Given the description of an element on the screen output the (x, y) to click on. 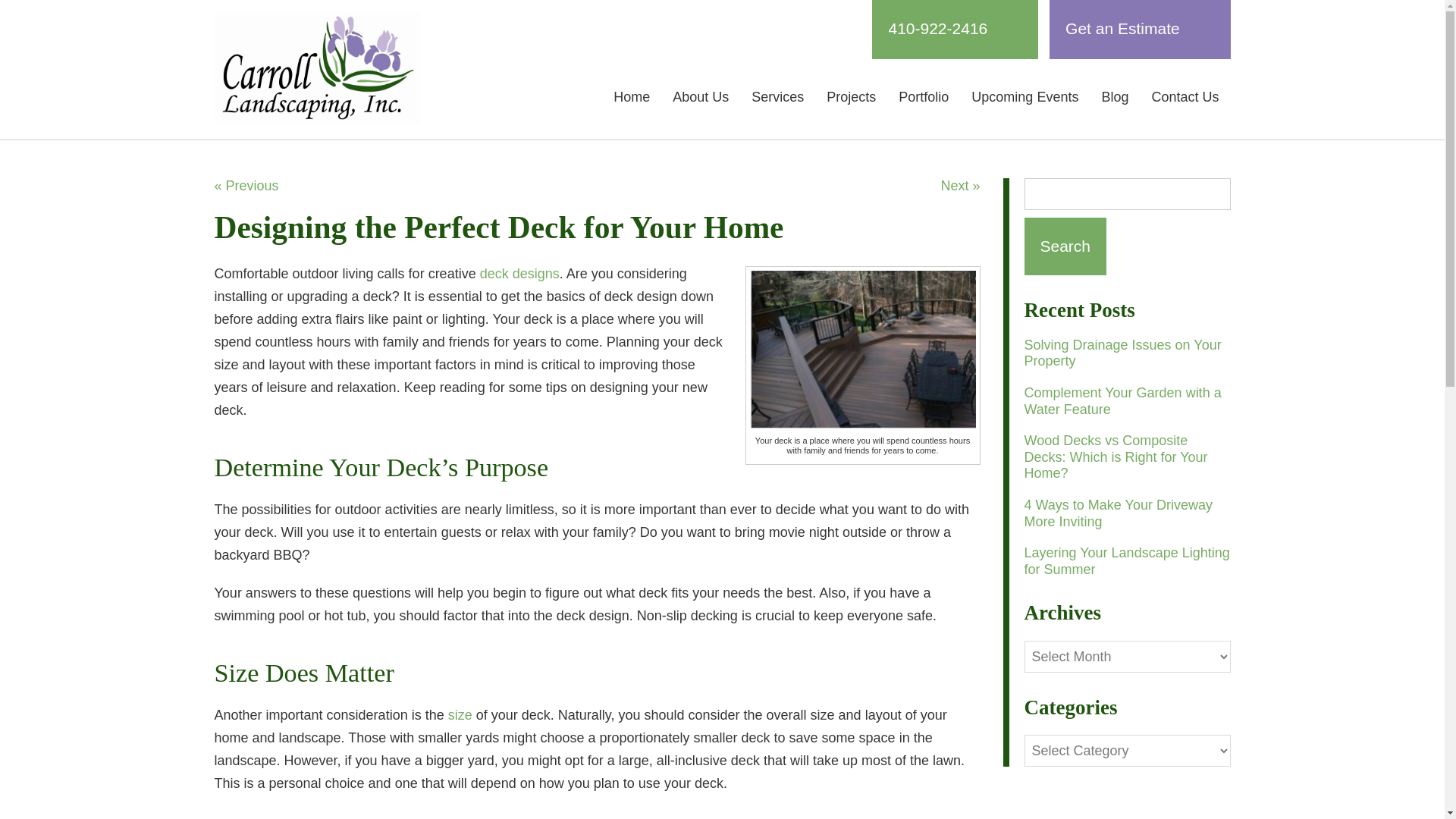
Services (777, 97)
Carroll Landscaping (316, 67)
Get an Estimate (1139, 29)
Portfolio (922, 97)
Search (1064, 246)
About Us (700, 97)
Home (631, 97)
Projects (850, 97)
410-922-2416 (955, 29)
